Given the description of an element on the screen output the (x, y) to click on. 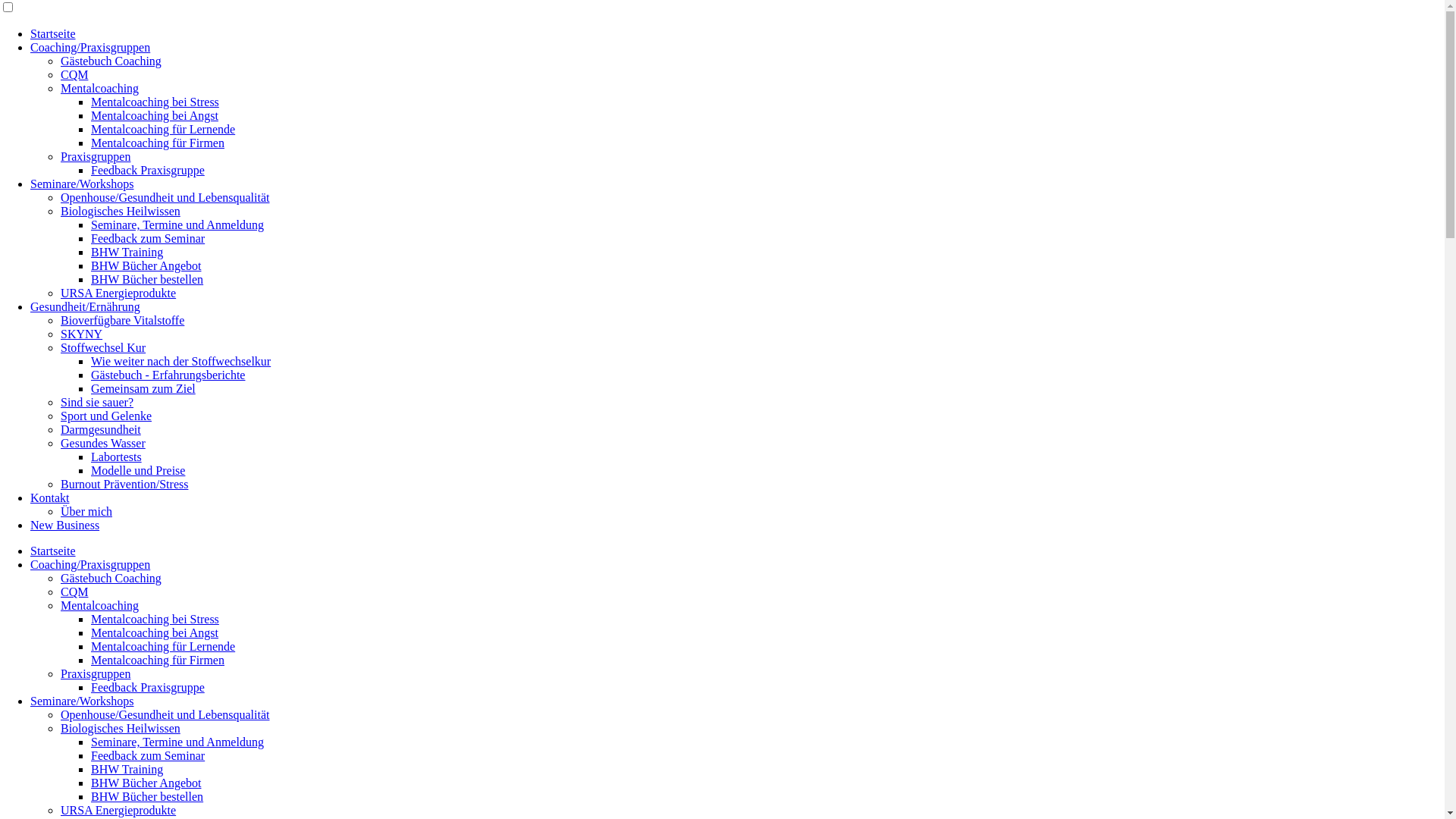
URSA Energieprodukte Element type: text (117, 809)
New Business Element type: text (64, 524)
Mentalcoaching Element type: text (99, 87)
Mentalcoaching bei Angst Element type: text (154, 632)
Biologisches Heilwissen Element type: text (120, 727)
Gemeinsam zum Ziel Element type: text (143, 388)
Feedback zum Seminar Element type: text (147, 238)
Biologisches Heilwissen Element type: text (120, 210)
BHW Training Element type: text (127, 251)
Darmgesundheit Element type: text (100, 429)
Labortests Element type: text (116, 456)
Coaching/Praxisgruppen Element type: text (90, 564)
Mentalcoaching bei Stress Element type: text (155, 618)
Startseite Element type: text (52, 33)
Mentalcoaching Element type: text (99, 605)
Seminare, Termine und Anmeldung Element type: text (177, 224)
URSA Energieprodukte Element type: text (117, 292)
Startseite Element type: text (52, 550)
Modelle und Preise Element type: text (138, 470)
Gesundes Wasser Element type: text (102, 442)
Praxisgruppen Element type: text (95, 673)
Praxisgruppen Element type: text (95, 156)
Feedback zum Seminar Element type: text (147, 755)
Sind sie sauer? Element type: text (96, 401)
CQM Element type: text (73, 74)
Wie weiter nach der Stoffwechselkur Element type: text (180, 360)
Stoffwechsel Kur Element type: text (102, 347)
SKYNY Element type: text (81, 333)
Seminare/Workshops Element type: text (81, 700)
Coaching/Praxisgruppen Element type: text (90, 46)
Mentalcoaching bei Angst Element type: text (154, 115)
Kontakt Element type: text (49, 497)
Sport und Gelenke Element type: text (105, 415)
BHW Training Element type: text (127, 768)
CQM Element type: text (73, 591)
Seminare, Termine und Anmeldung Element type: text (177, 741)
Seminare/Workshops Element type: text (81, 183)
Mentalcoaching bei Stress Element type: text (155, 101)
Feedback Praxisgruppe Element type: text (147, 169)
Feedback Praxisgruppe Element type: text (147, 686)
